Given the description of an element on the screen output the (x, y) to click on. 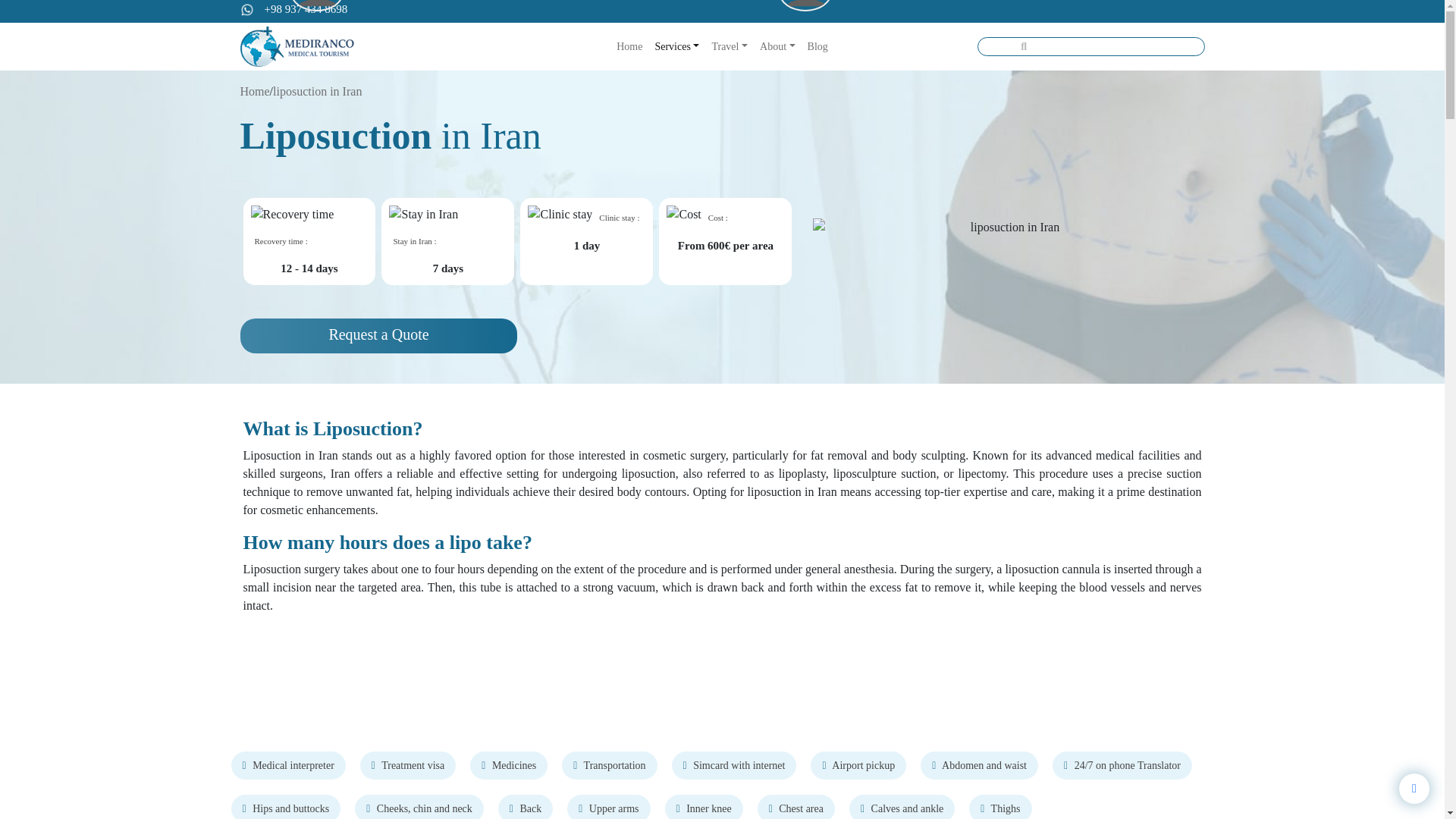
Go to top (1414, 788)
